Given the description of an element on the screen output the (x, y) to click on. 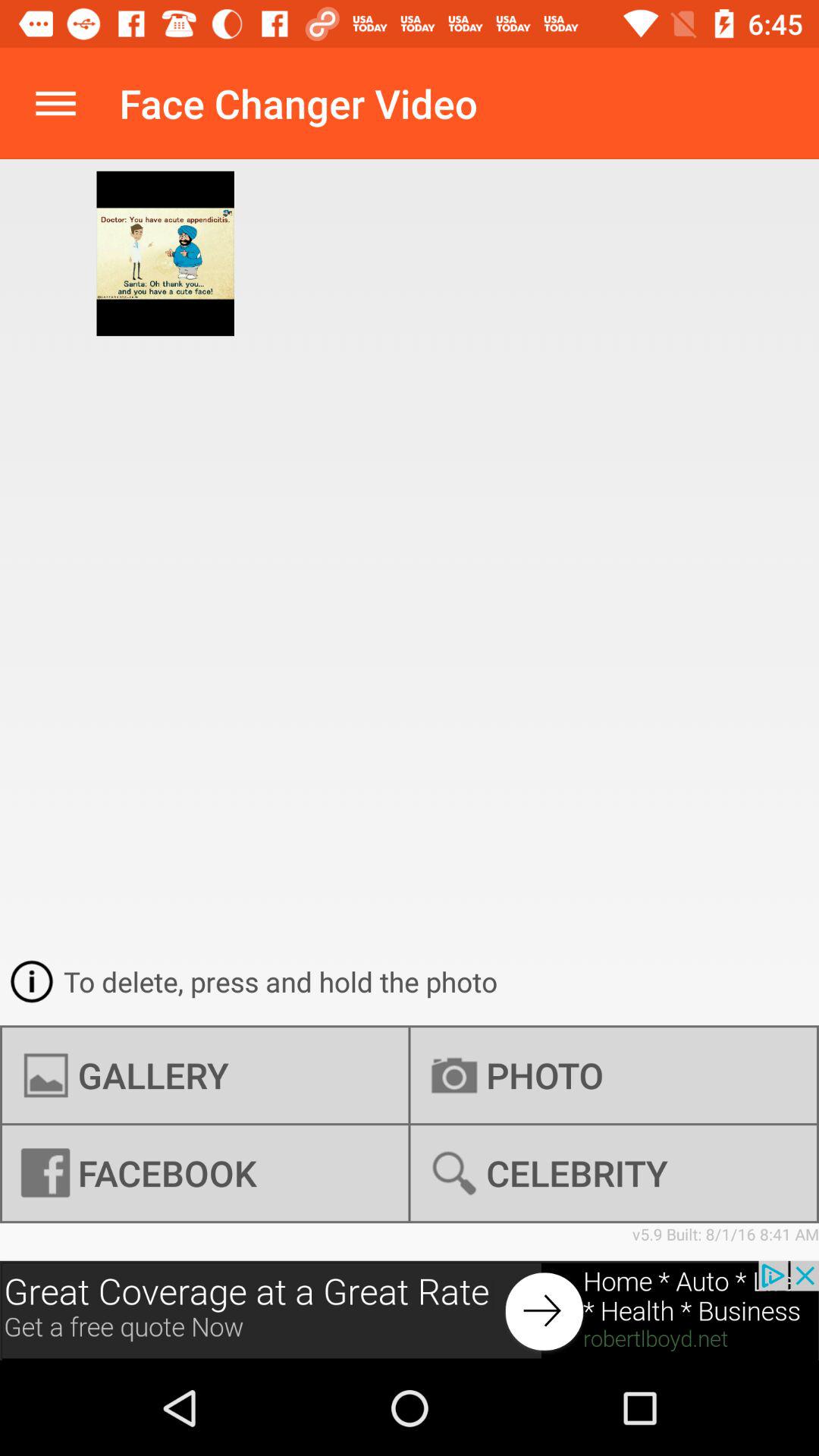
open options menu (55, 103)
